Given the description of an element on the screen output the (x, y) to click on. 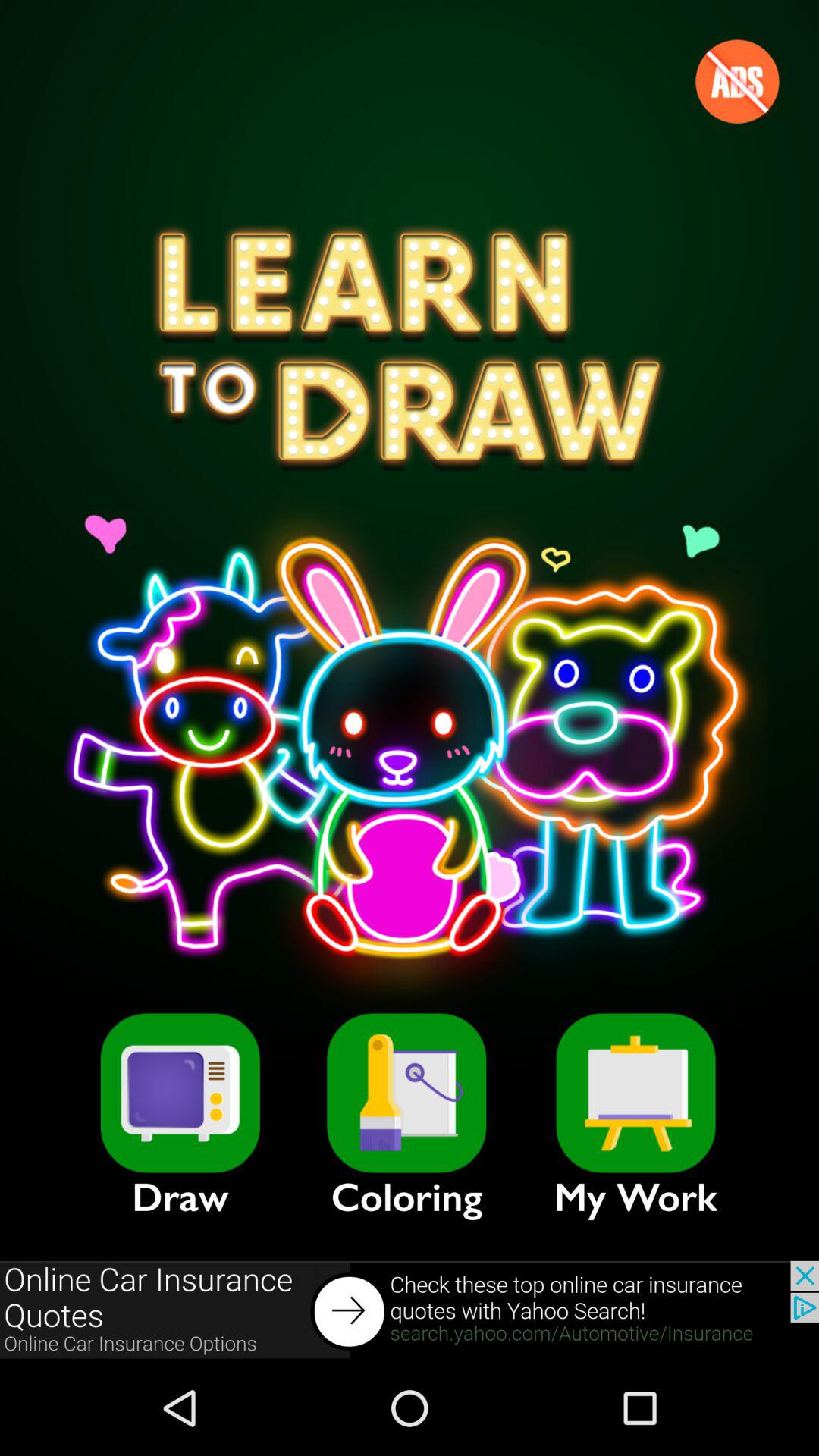
select draw (179, 1092)
